Given the description of an element on the screen output the (x, y) to click on. 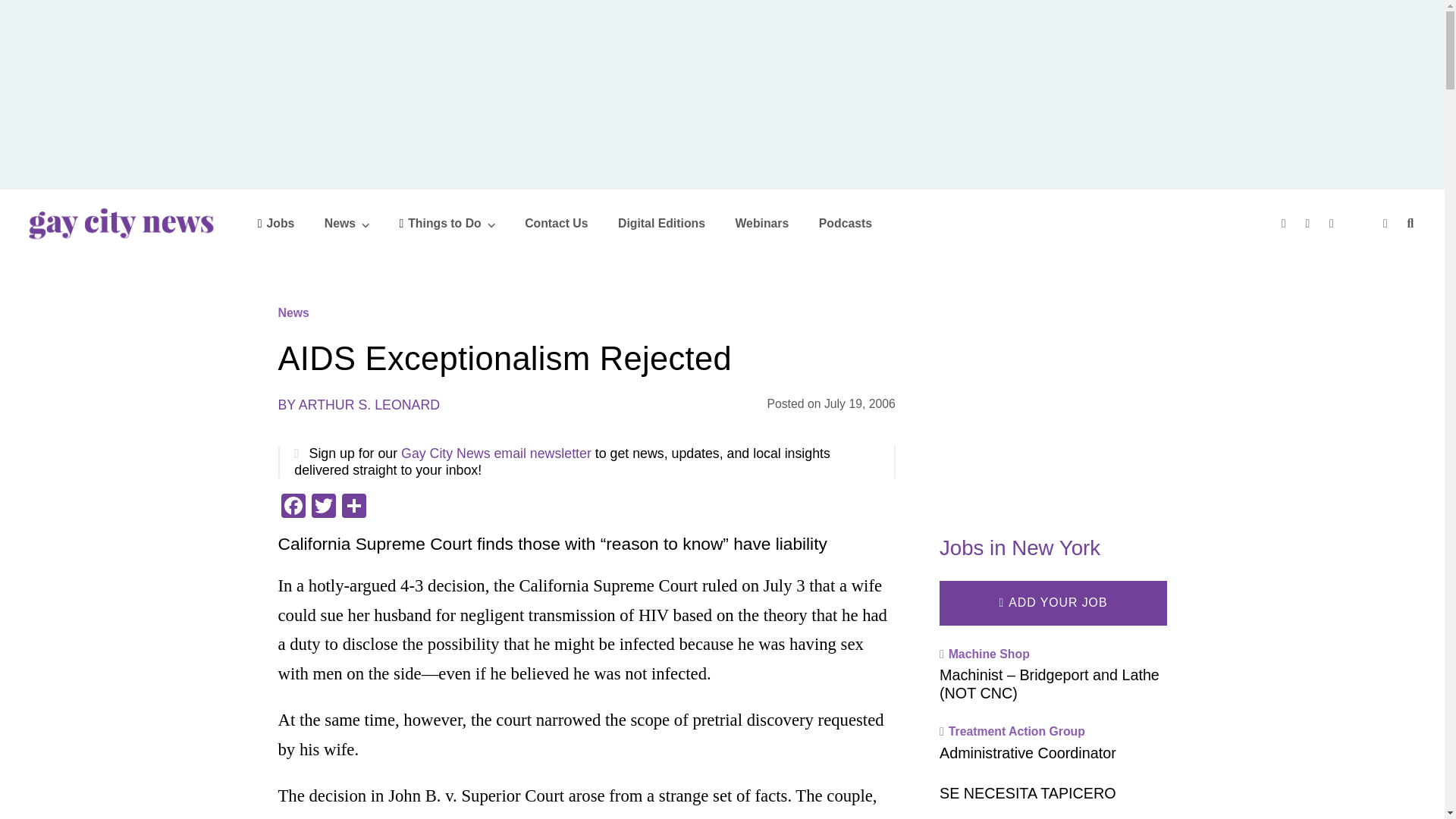
Webinars (762, 223)
Things to Do (446, 223)
Jobs (276, 223)
Twitter (322, 507)
Podcasts (845, 223)
News (346, 223)
Digital Editions (660, 223)
Contact Us (556, 223)
Facebook (292, 507)
